Given the description of an element on the screen output the (x, y) to click on. 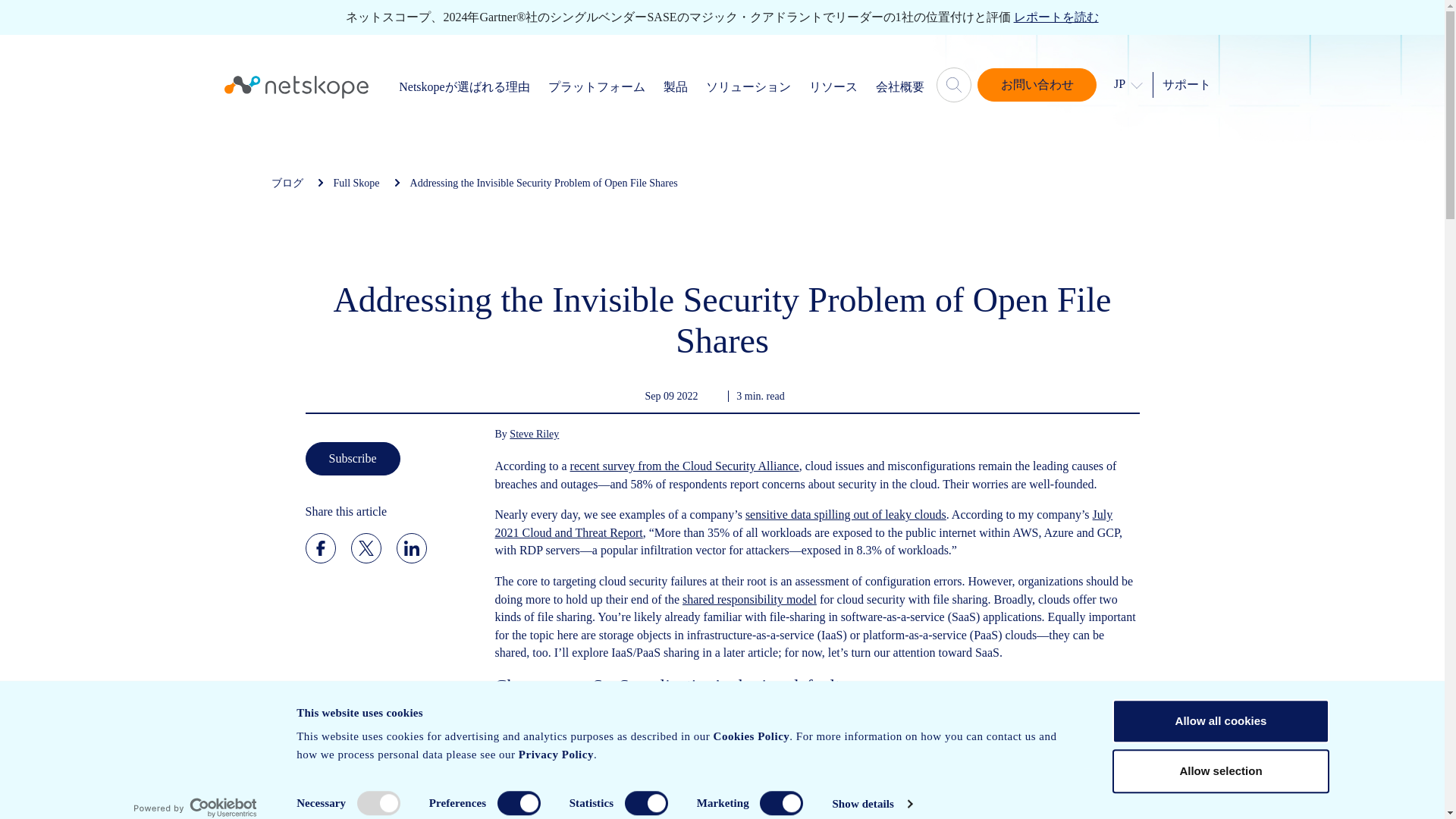
Show details (871, 803)
Cookies Policy (751, 736)
Privacy Policy (555, 754)
